Given the description of an element on the screen output the (x, y) to click on. 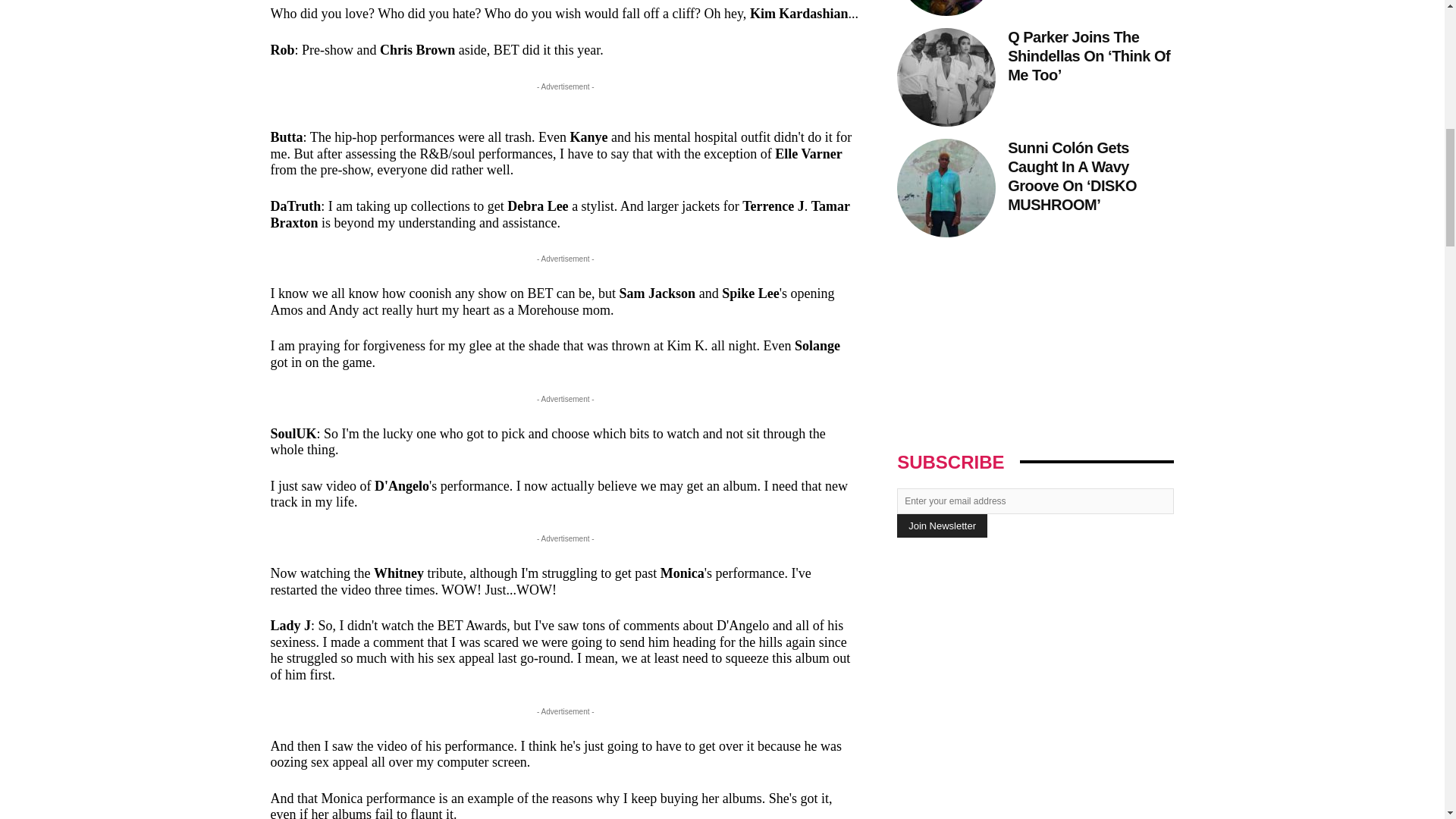
Join Newsletter (941, 525)
